Given the description of an element on the screen output the (x, y) to click on. 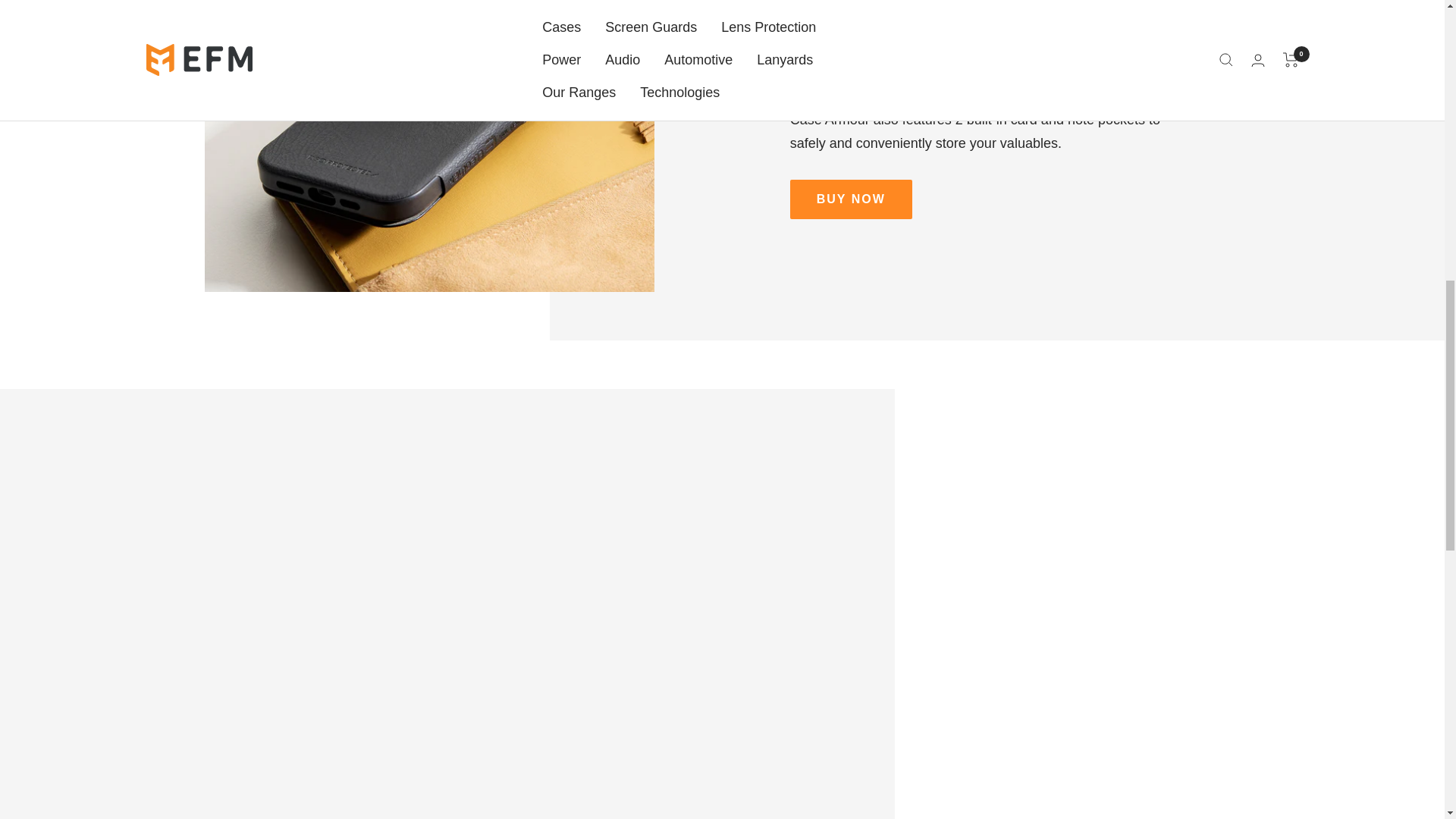
ELeather (915, 48)
BUY NOW (851, 199)
